Given the description of an element on the screen output the (x, y) to click on. 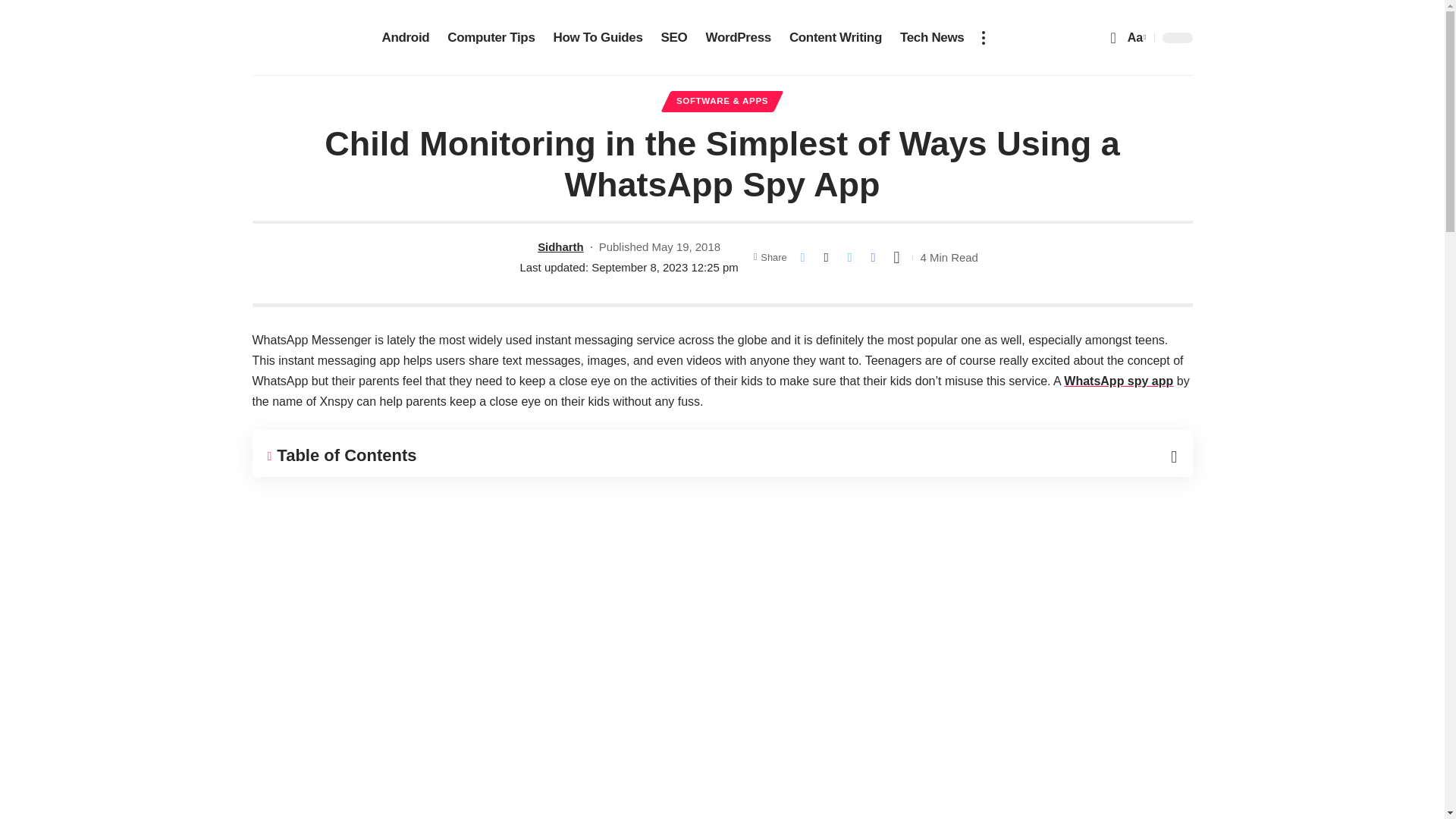
WhatsApp spy app (1118, 380)
Aa (1135, 37)
Tech News (932, 38)
WordPress (736, 38)
Sidharth (560, 246)
Computer Tips (490, 38)
Content Writing (835, 38)
How To Guides (598, 38)
